Given the description of an element on the screen output the (x, y) to click on. 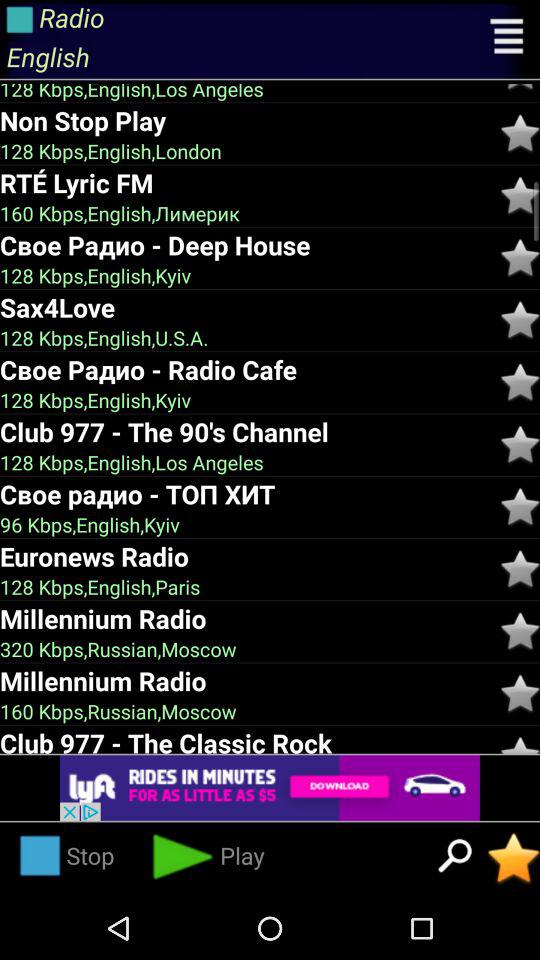
toggle favorite (520, 693)
